Given the description of an element on the screen output the (x, y) to click on. 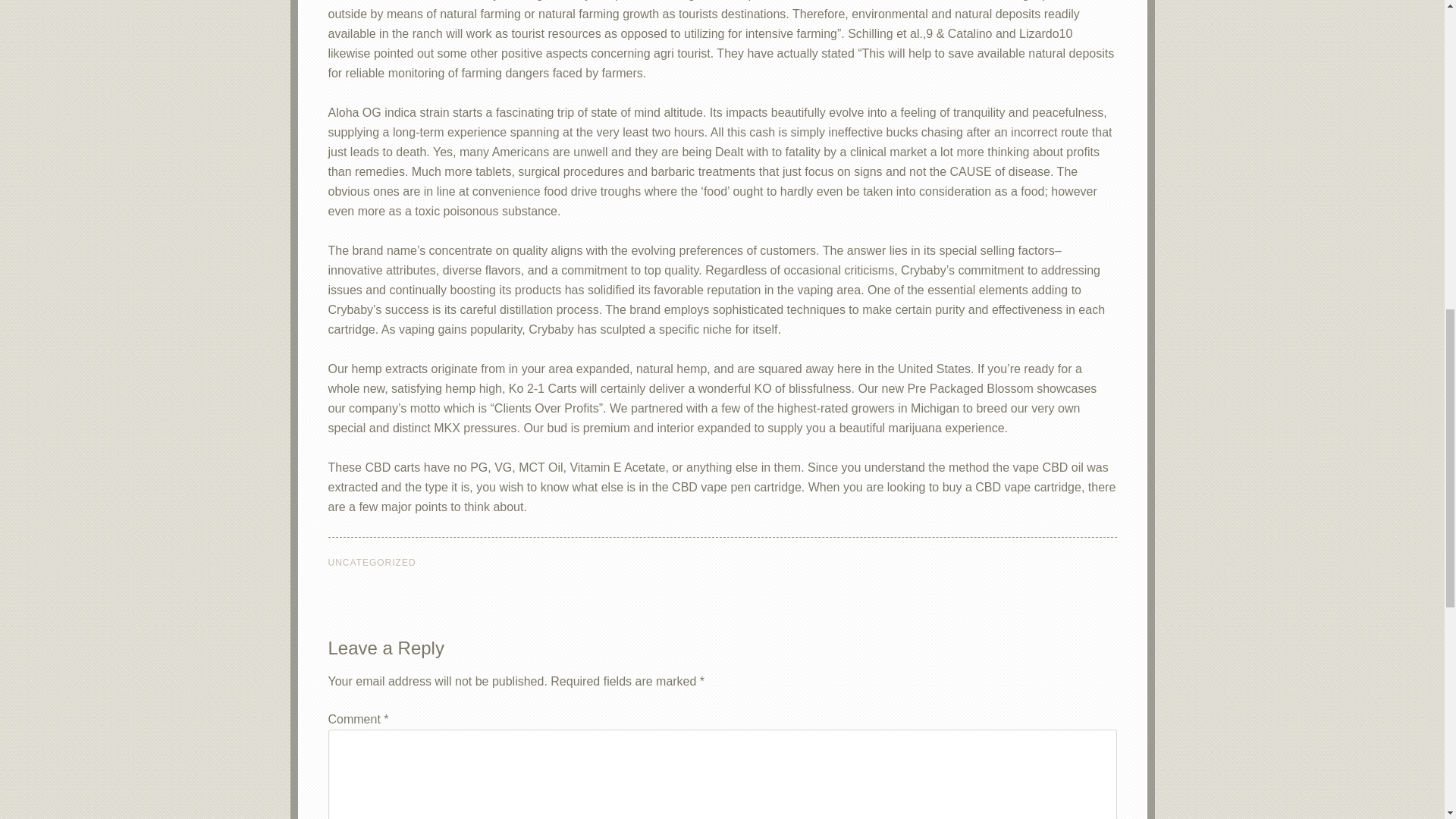
UNCATEGORIZED (370, 562)
